Given the description of an element on the screen output the (x, y) to click on. 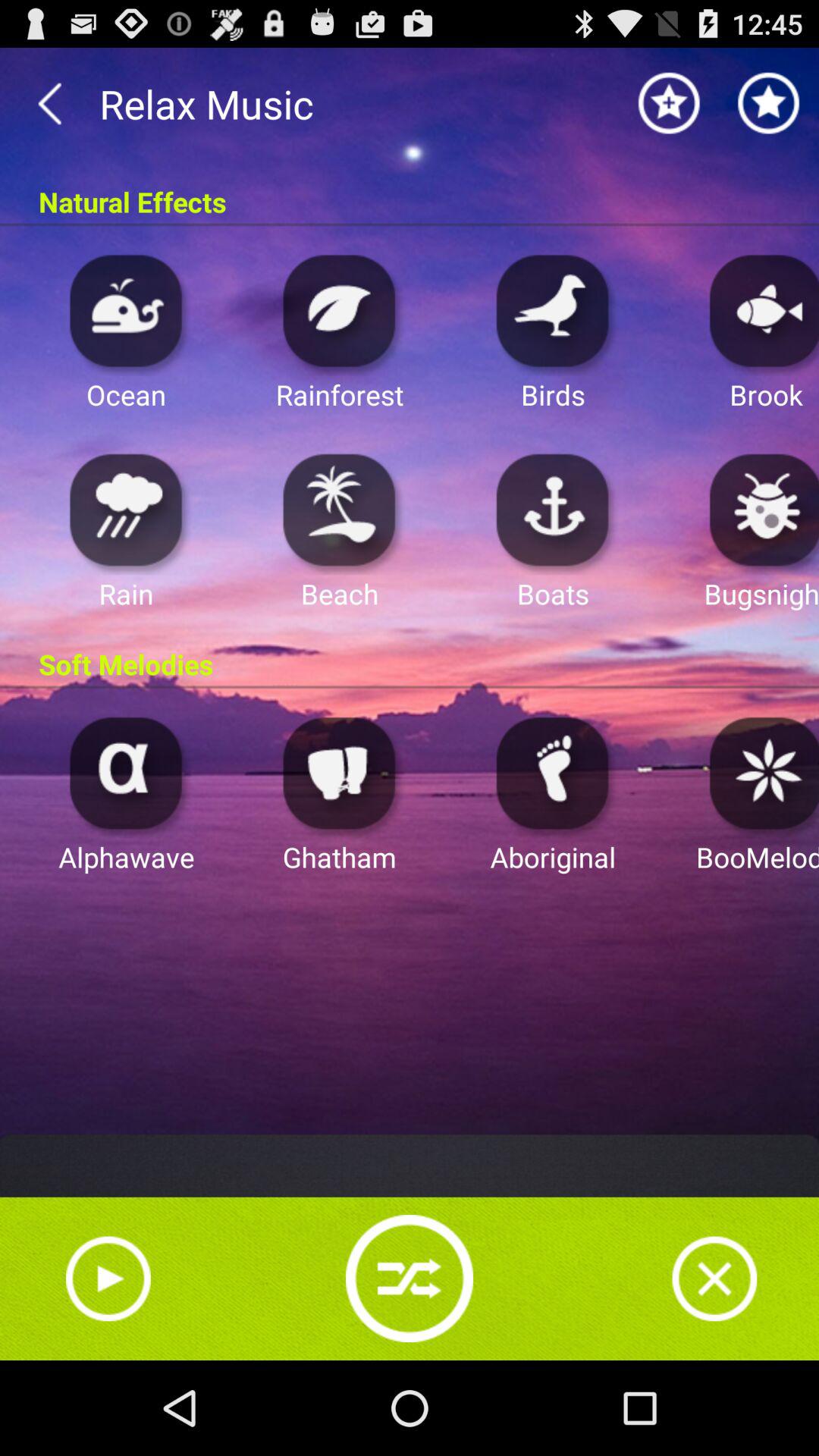
add favorite (769, 103)
